Given the description of an element on the screen output the (x, y) to click on. 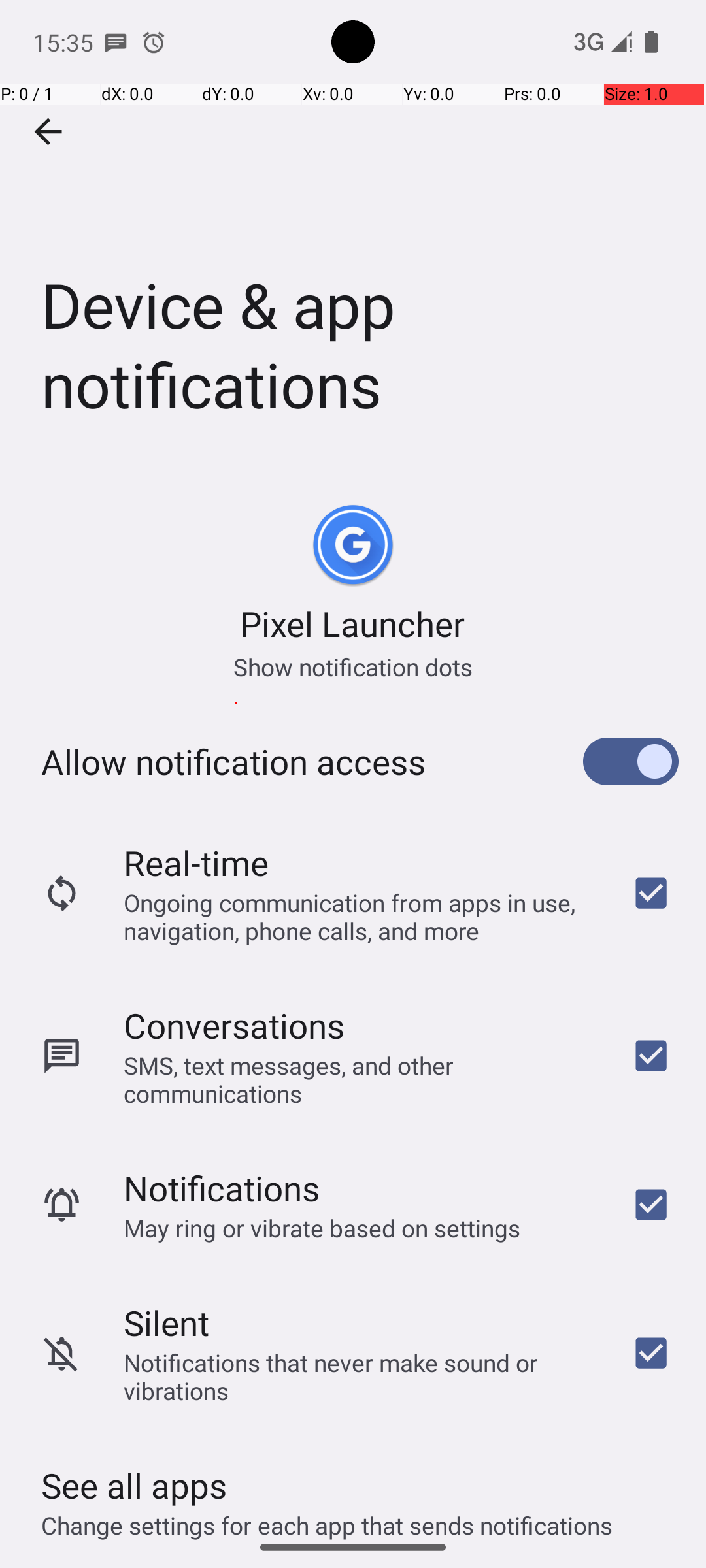
Show notification dots Element type: android.widget.TextView (352, 666)
Allow notification access Element type: android.widget.TextView (233, 761)
Real-time Element type: android.widget.TextView (195, 862)
Ongoing communication from apps in use, navigation, phone calls, and more Element type: android.widget.TextView (359, 916)
SMS, text messages, and other communications Element type: android.widget.TextView (359, 1079)
May ring or vibrate based on settings Element type: android.widget.TextView (322, 1227)
Notifications that never make sound or vibrations Element type: android.widget.TextView (359, 1376)
See all apps Element type: android.widget.TextView (133, 1485)
Change settings for each app that sends notifications Element type: android.widget.TextView (326, 1517)
